Given the description of an element on the screen output the (x, y) to click on. 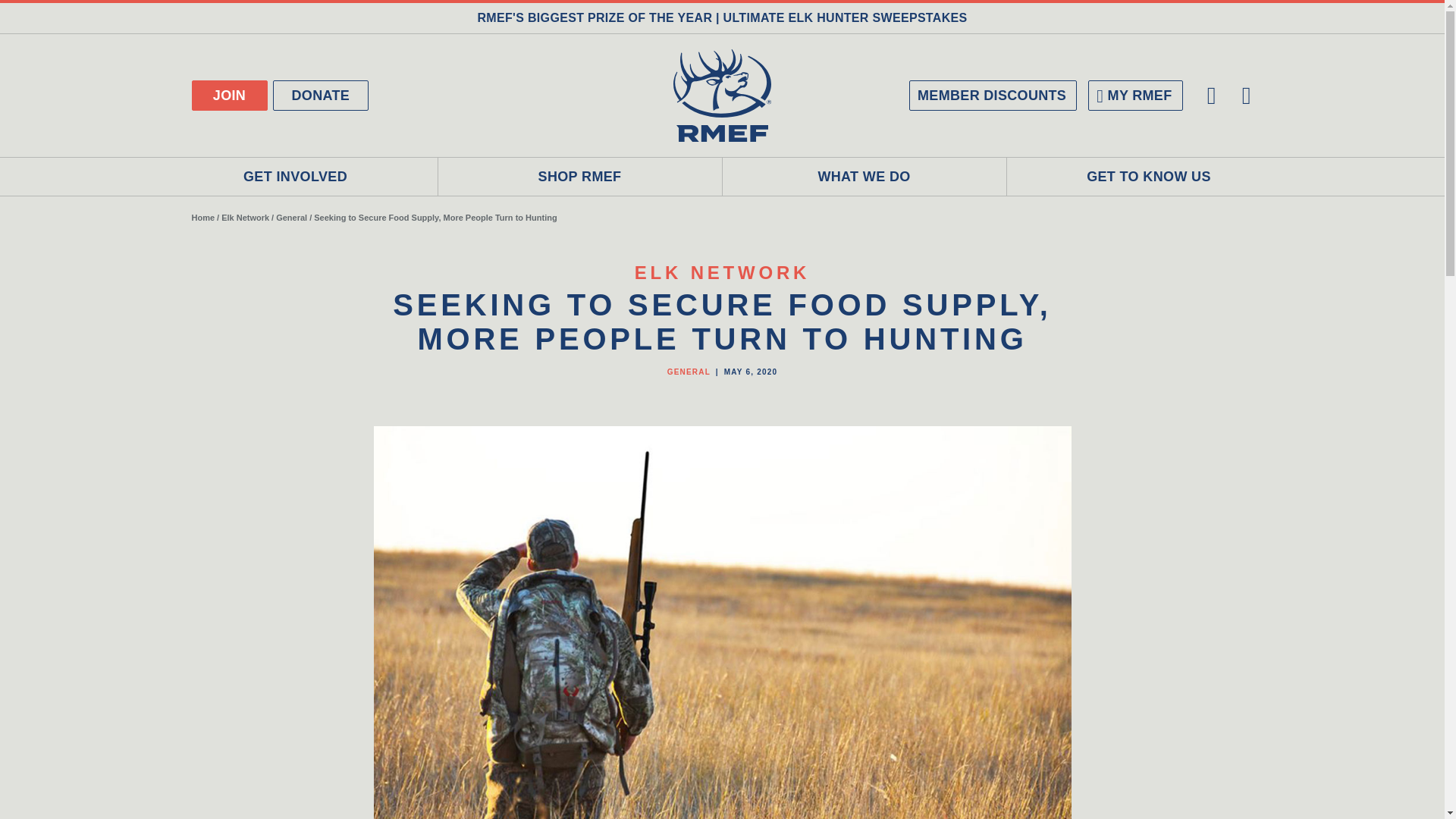
SHOP RMEF (580, 176)
JOIN (228, 95)
GET INVOLVED (295, 176)
DONATE (321, 95)
MEMBER DISCOUNTS (992, 95)
GET TO KNOW US (1149, 176)
MY RMEF (1134, 95)
WHAT WE DO (864, 176)
